Given the description of an element on the screen output the (x, y) to click on. 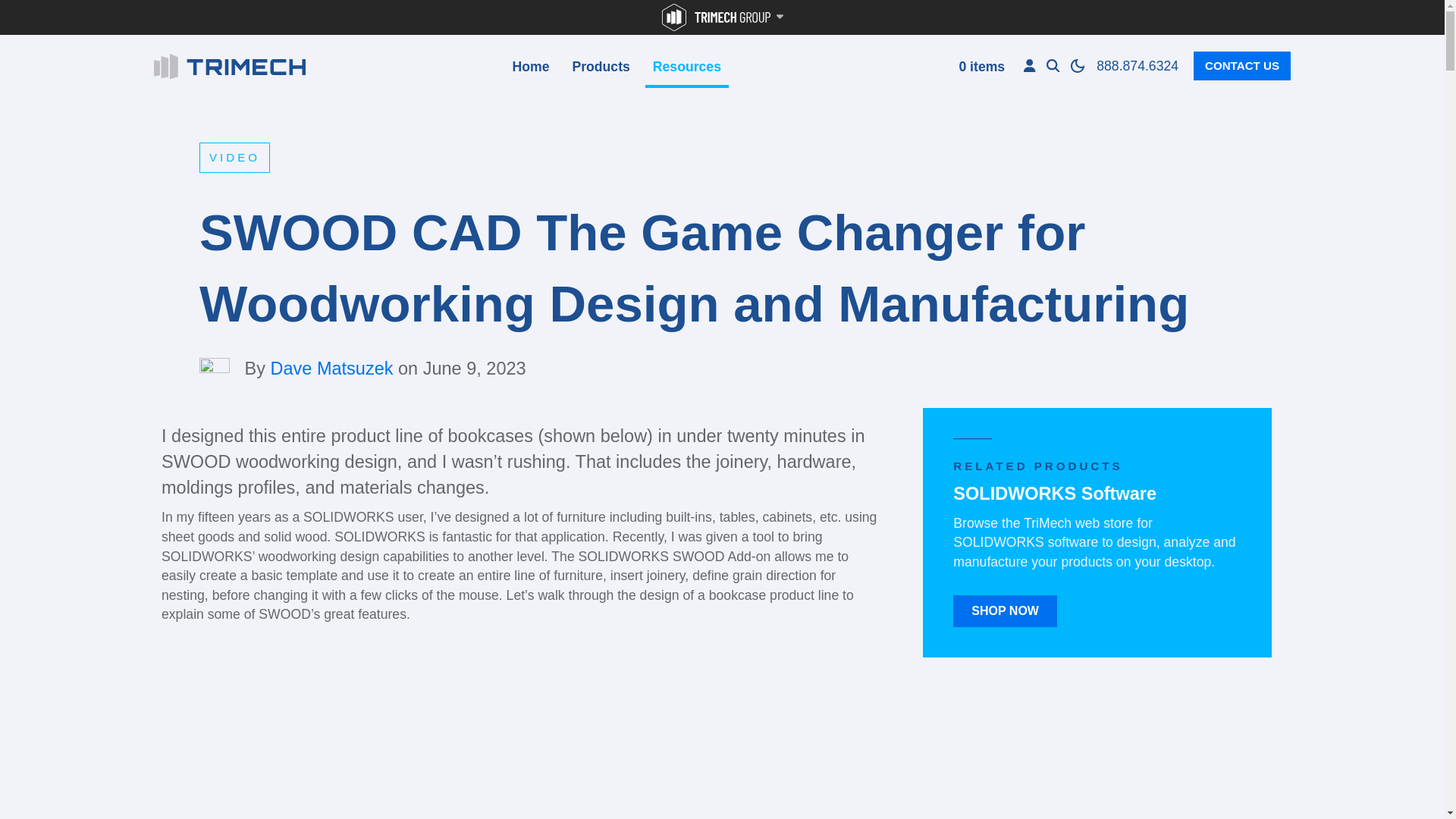
Products (600, 68)
Resources (687, 68)
Start shopping (980, 69)
Home (529, 68)
